Given the description of an element on the screen output the (x, y) to click on. 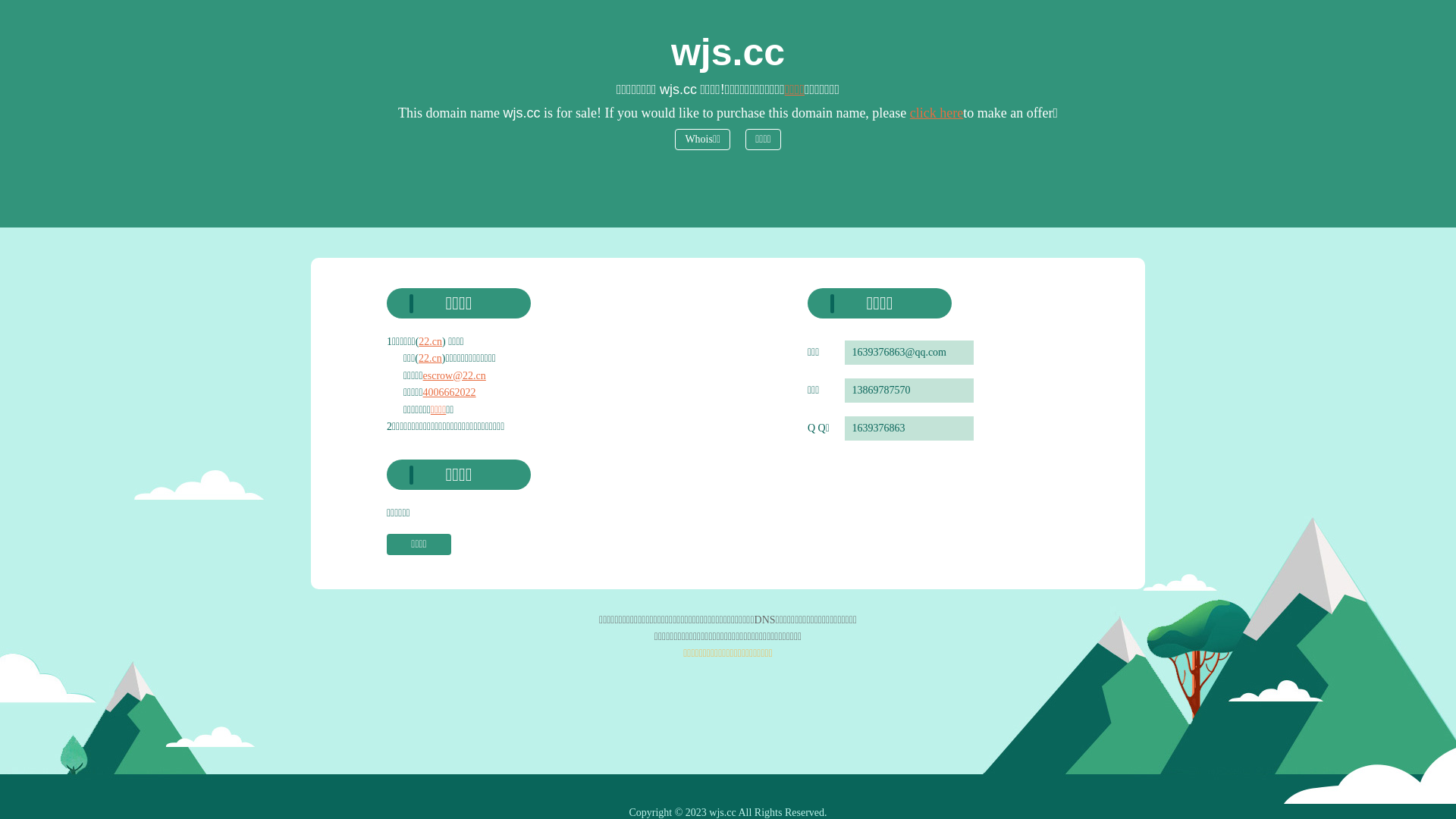
22.cn Element type: text (430, 341)
escrow@22.cn Element type: text (454, 375)
22.cn Element type: text (430, 358)
4006662022 Element type: text (449, 392)
click here Element type: text (936, 112)
